Given the description of an element on the screen output the (x, y) to click on. 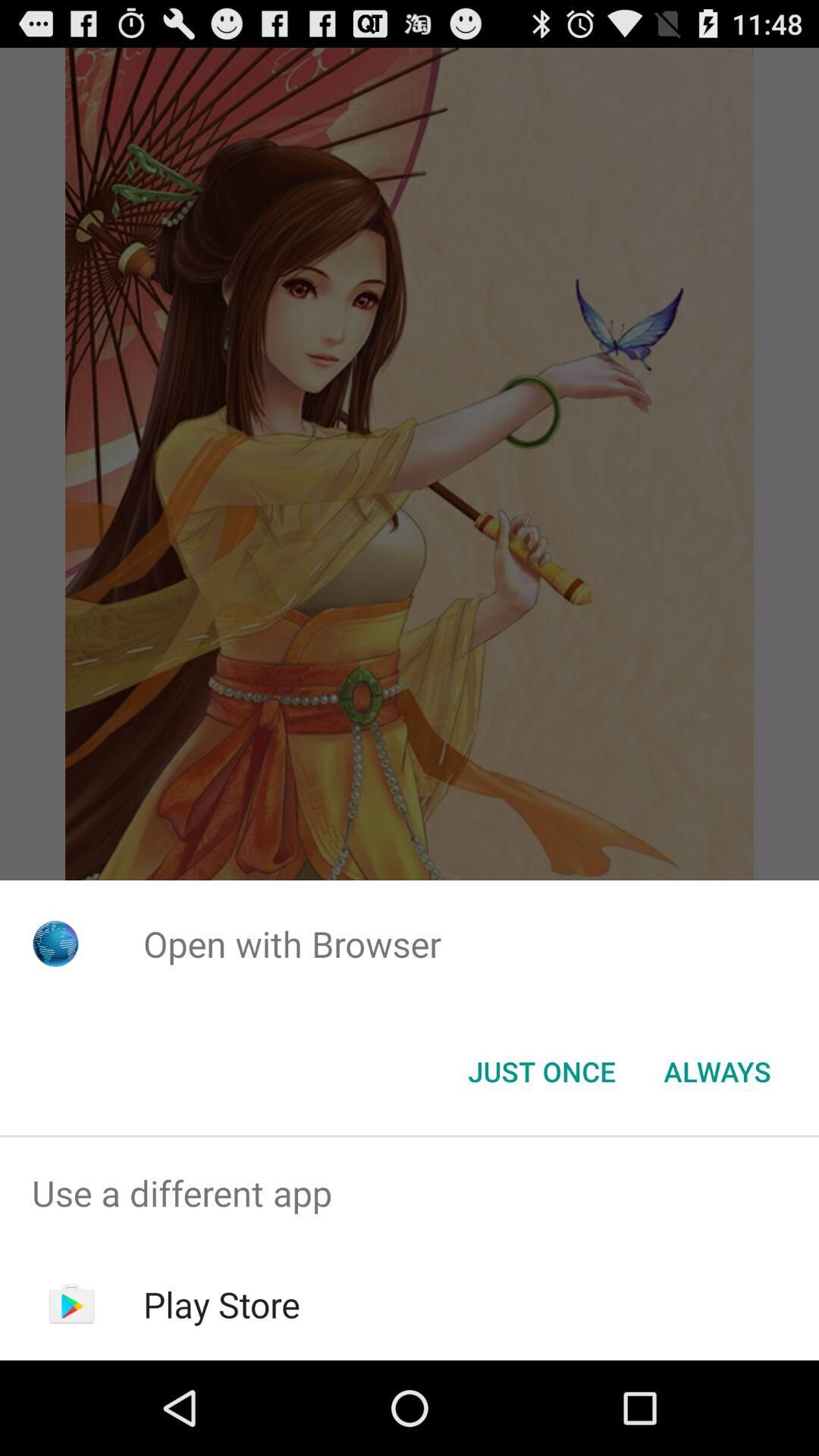
tap icon below the use a different item (221, 1304)
